Given the description of an element on the screen output the (x, y) to click on. 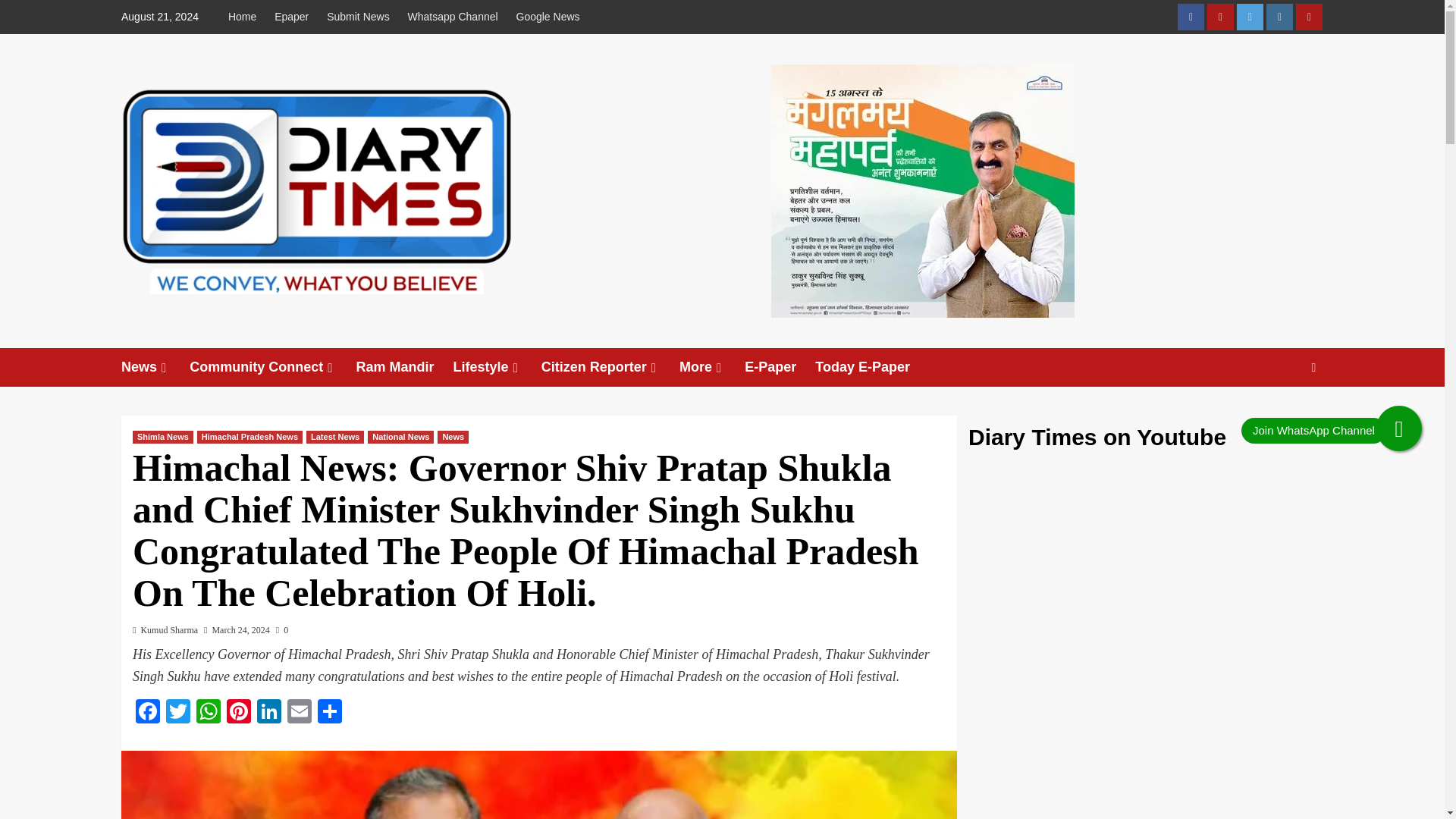
Twitter (1249, 17)
Citizen Reporter (610, 367)
Twitter (178, 713)
Epaper (290, 17)
Lifestyle (496, 367)
Home (245, 17)
Community Connect (272, 367)
Whatsapp Channel (452, 17)
LinkedIn (268, 713)
Facebook (147, 713)
